Given the description of an element on the screen output the (x, y) to click on. 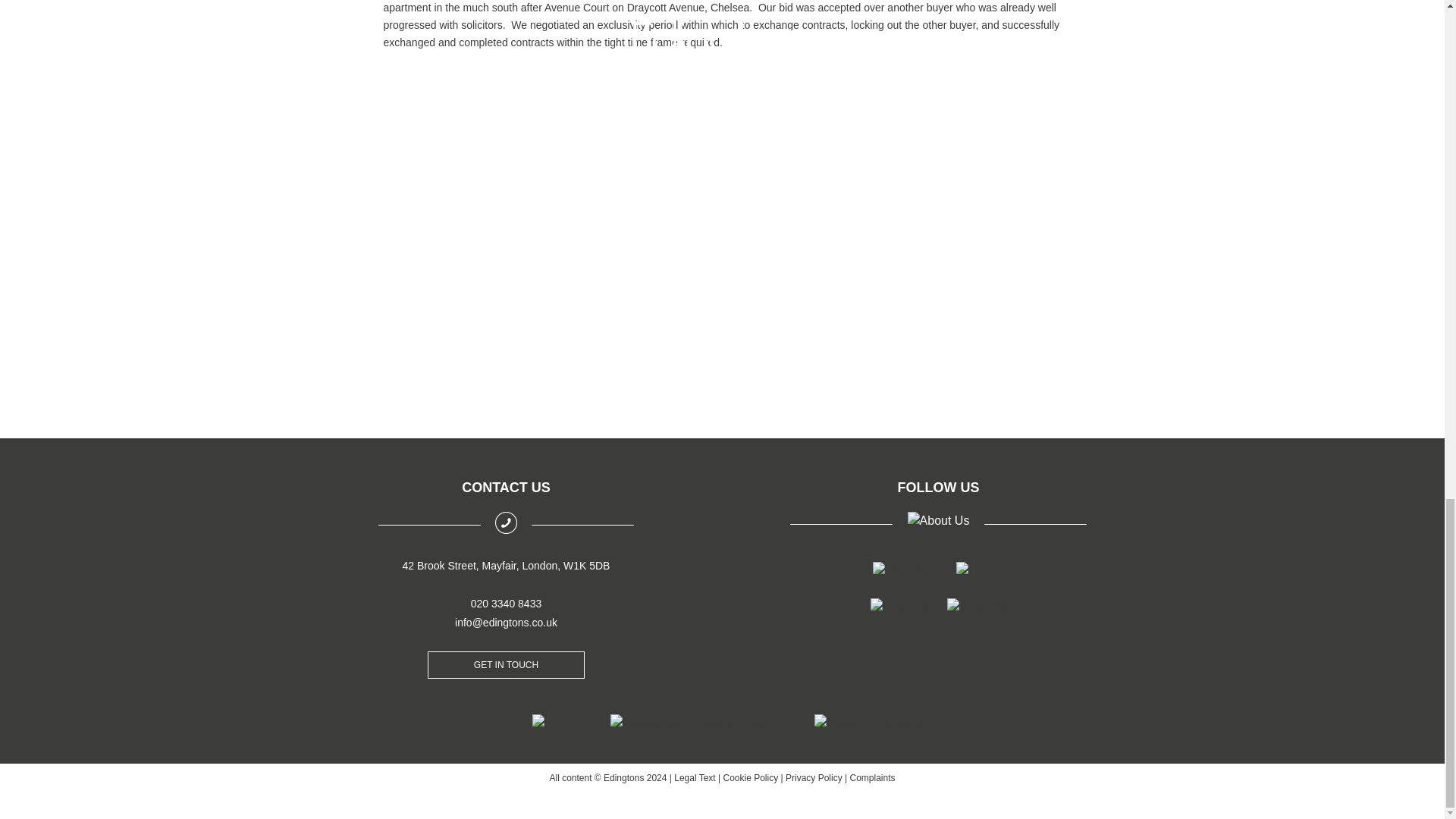
Legal Text (695, 777)
020 3340 8433 (505, 603)
GET IN TOUCH (506, 664)
Cookie Policy (750, 777)
